Given the description of an element on the screen output the (x, y) to click on. 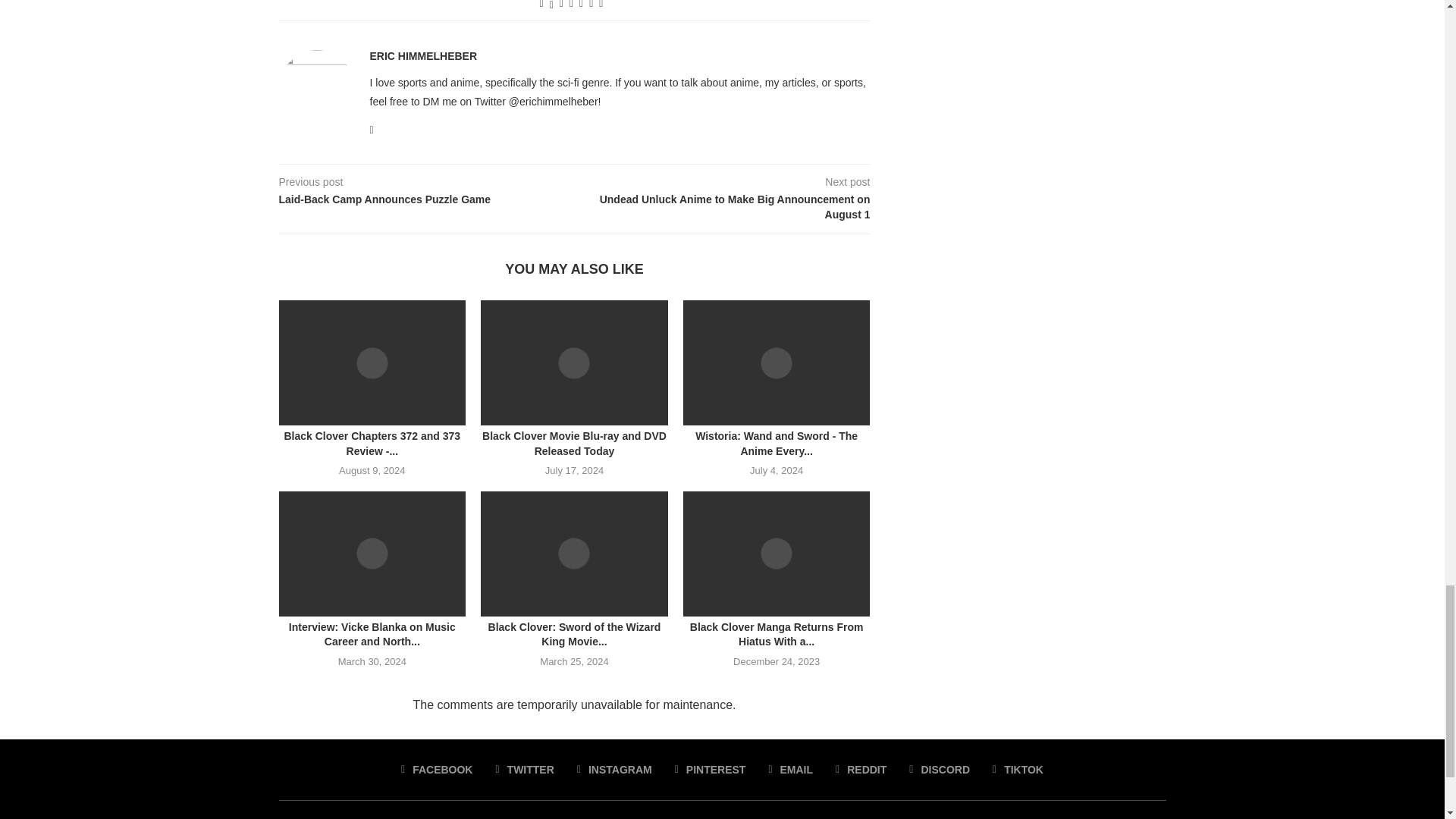
Black Clover Movie Blu-ray and DVD Released Today (574, 362)
